Given the description of an element on the screen output the (x, y) to click on. 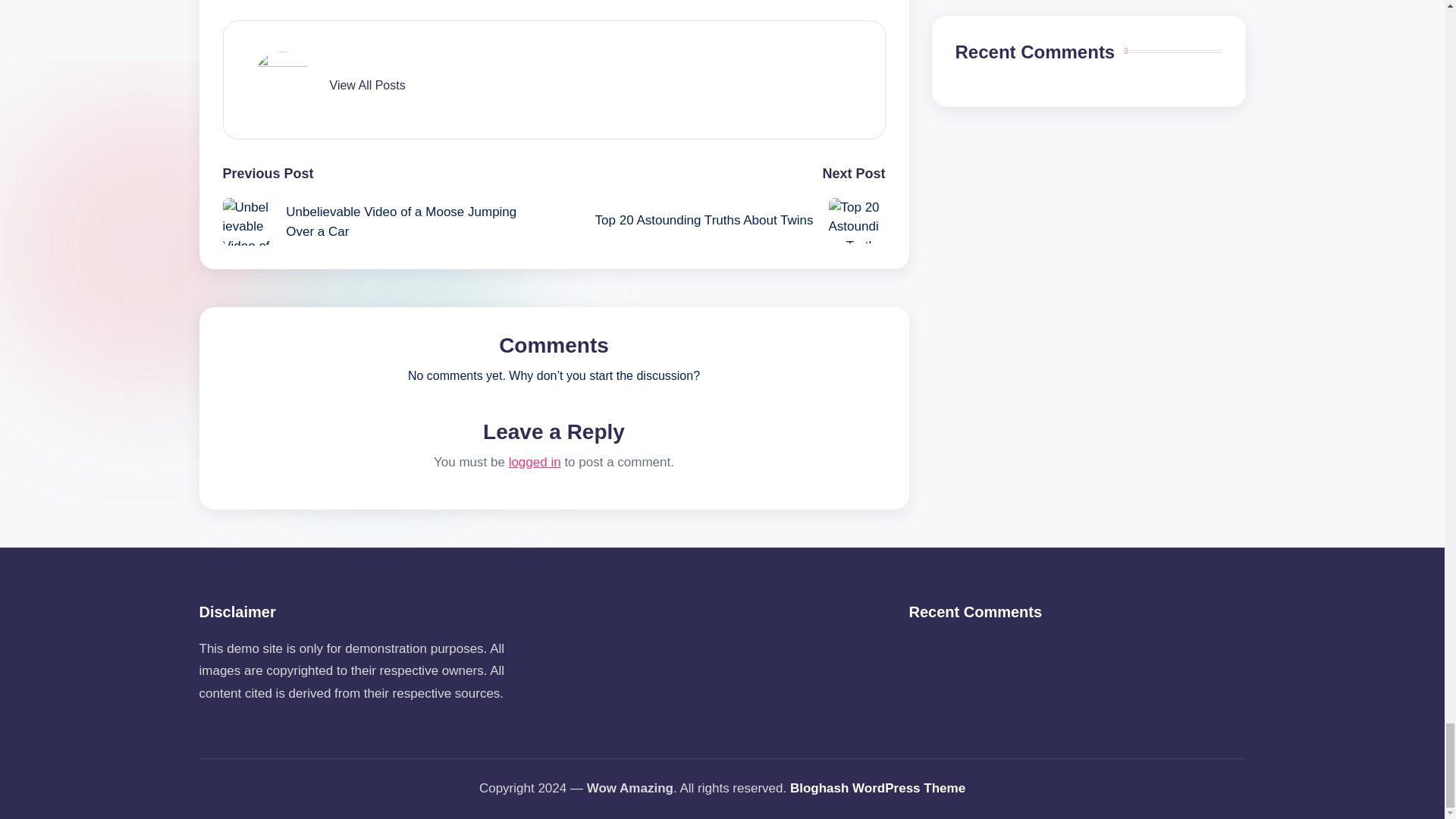
Unbelievable Video of a Moose Jumping Over a Car (388, 222)
Top 20 Astounding Truths About Twins (719, 220)
View All Posts (366, 85)
Bloghash WordPress Theme (877, 788)
logged in (534, 462)
